Given the description of an element on the screen output the (x, y) to click on. 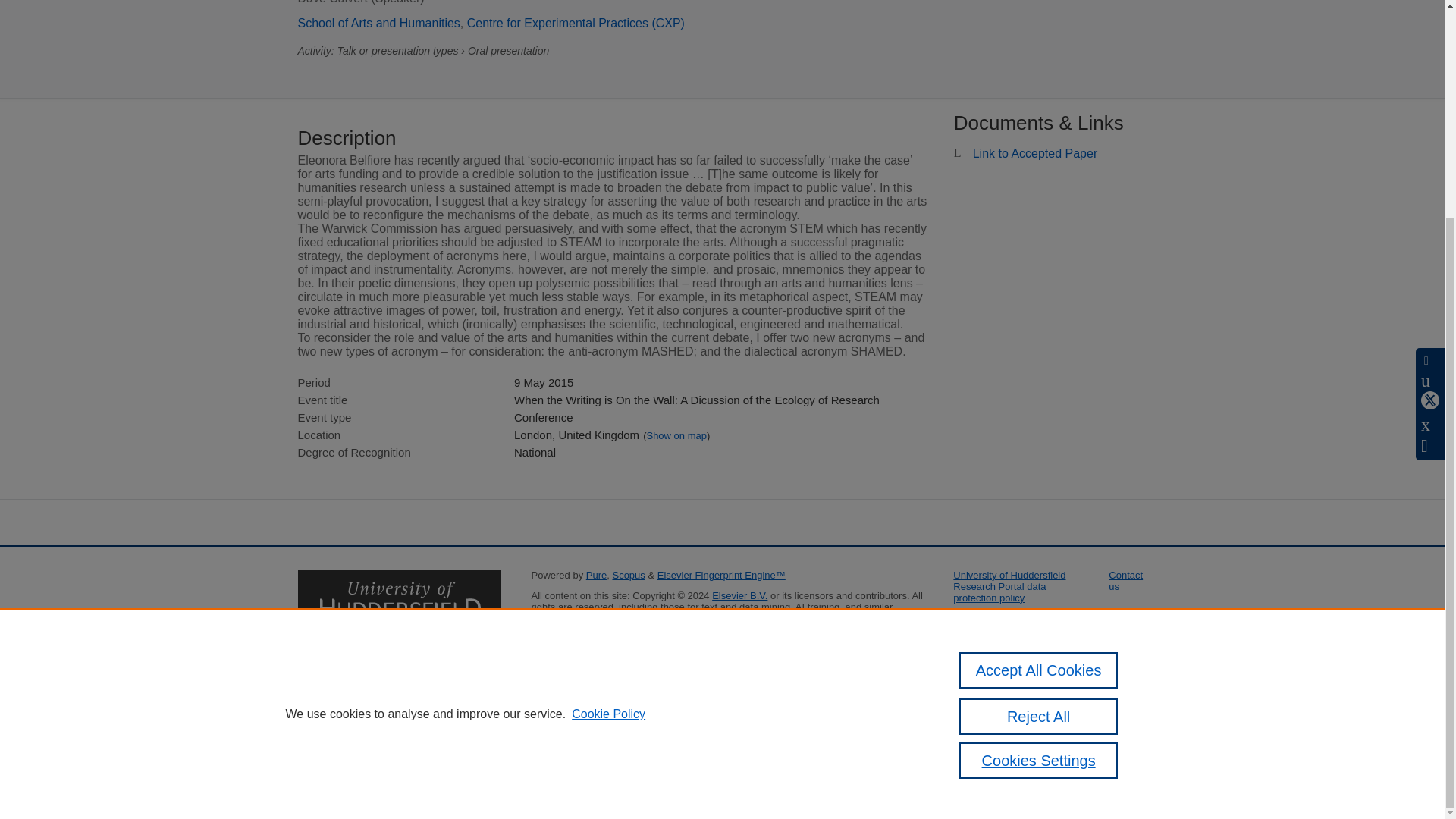
Pure (596, 574)
Reject All (1038, 430)
School of Arts and Humanities (378, 22)
About web accessibility (1003, 618)
Report vulnerability (994, 638)
Elsevier B.V. (739, 595)
Contact us (1125, 580)
Show on map (676, 435)
Cookie Policy (608, 427)
